Given the description of an element on the screen output the (x, y) to click on. 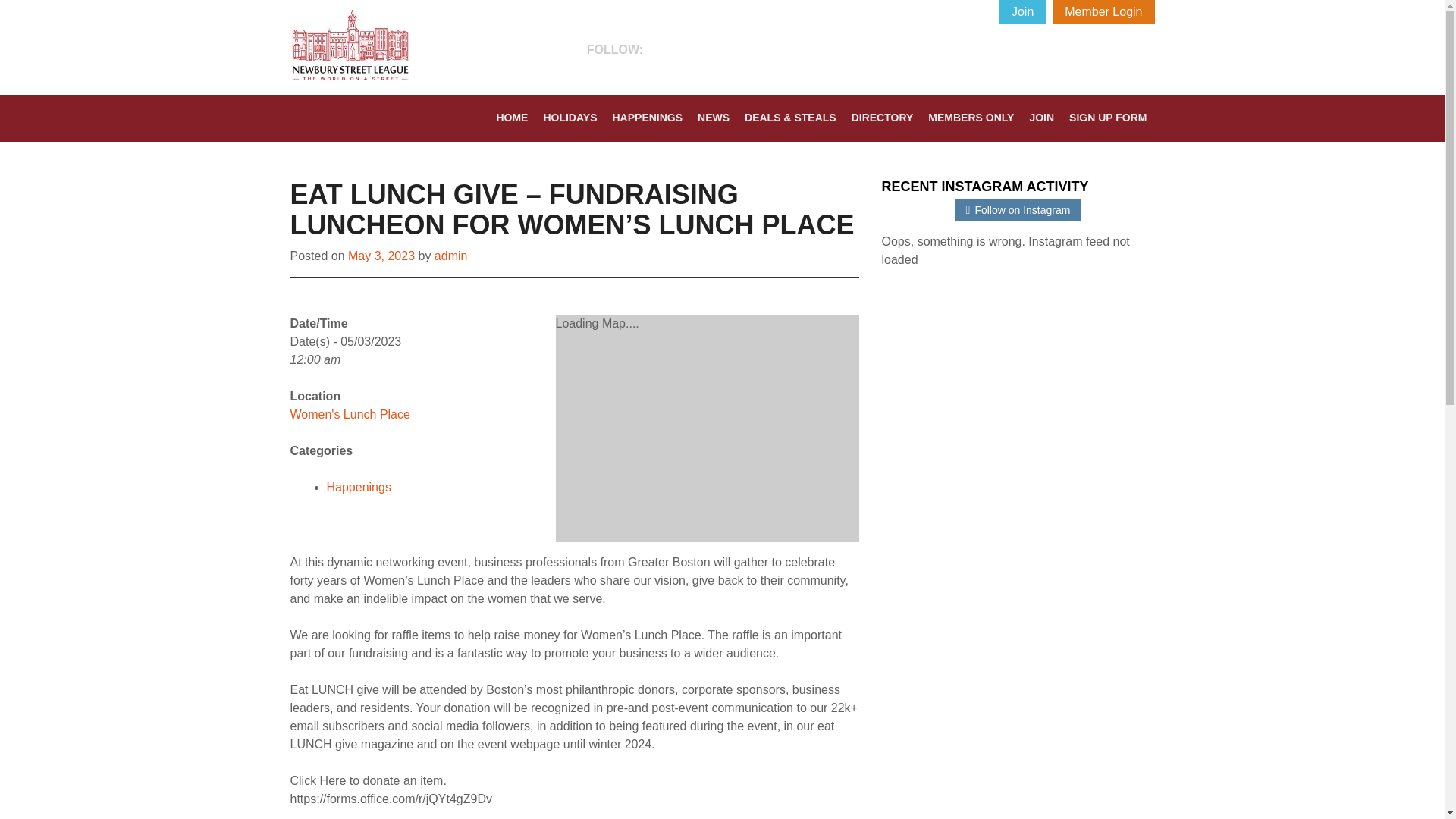
Member Login (1103, 12)
MEMBERS ONLY (970, 117)
Join (1021, 12)
Follow on Instagram (1022, 210)
JOIN (1041, 117)
DIRECTORY (882, 117)
NEWS (713, 117)
May 3, 2023 (380, 255)
HOLIDAYS (569, 117)
HOME (511, 117)
Happenings (358, 486)
HAPPENINGS (646, 117)
admin (450, 255)
Women's Lunch Place (349, 413)
SIGN UP FORM (1107, 117)
